Given the description of an element on the screen output the (x, y) to click on. 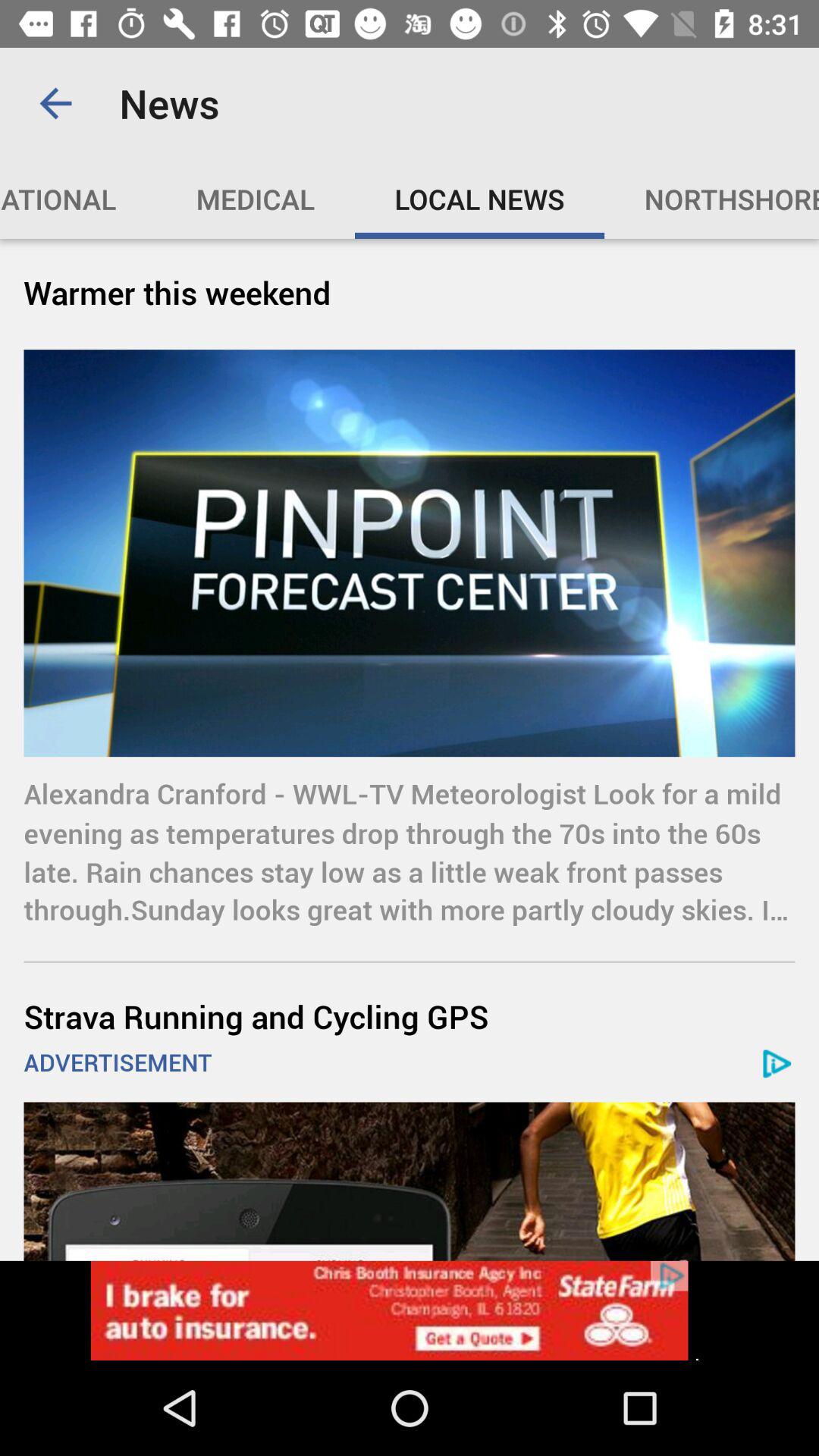
tap app next to the news app (55, 103)
